Given the description of an element on the screen output the (x, y) to click on. 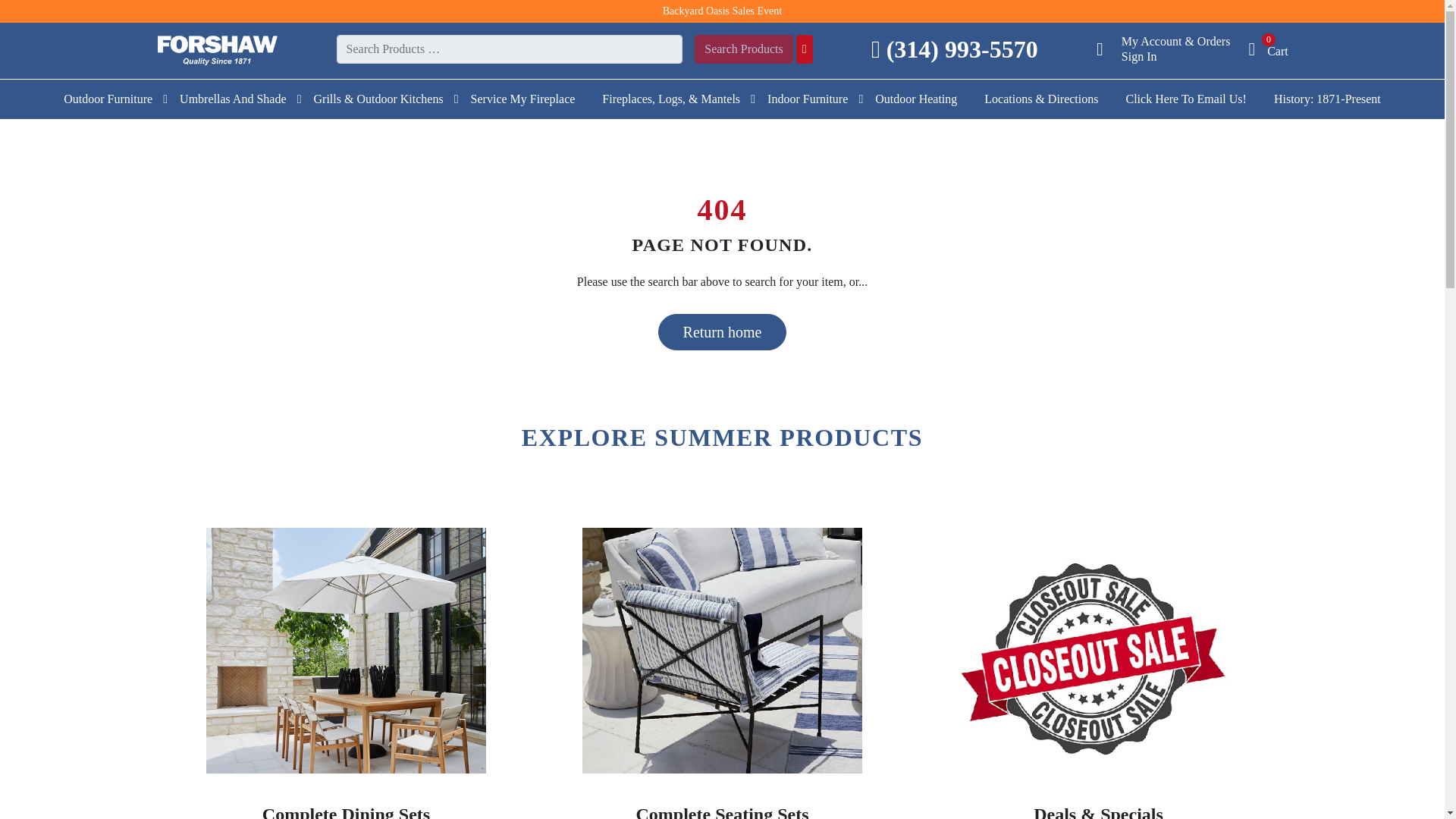
Search Products (743, 49)
Forshaws Home (216, 47)
Backyard Oasis Sales Event (721, 11)
my account link (1108, 49)
Sign In (1139, 56)
Search Products (743, 49)
Search Products (743, 49)
Umbrellas And Shade (232, 98)
Outdoor Furniture (108, 98)
cart (1267, 49)
